Given the description of an element on the screen output the (x, y) to click on. 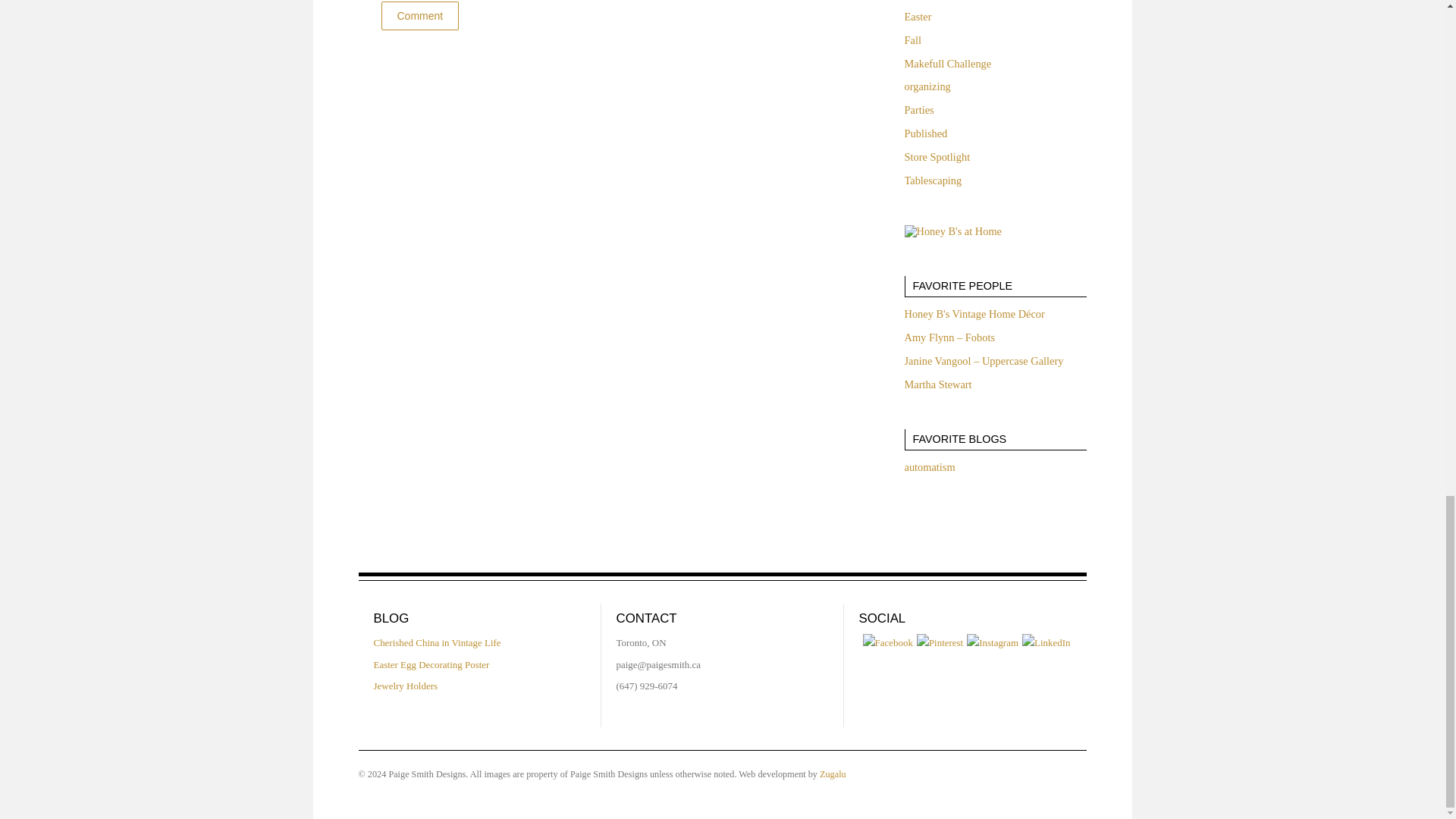
Comment (419, 15)
Comment (419, 15)
